Given the description of an element on the screen output the (x, y) to click on. 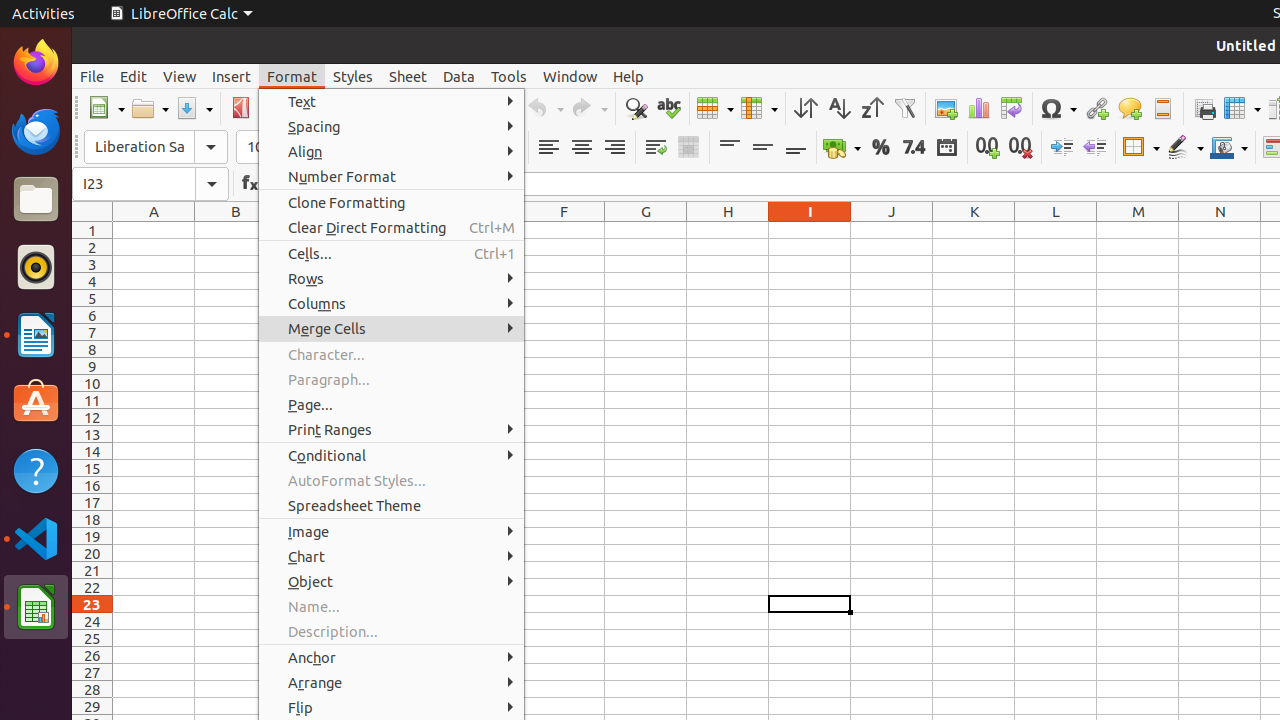
Find & Replace Element type: toggle-button (635, 108)
Freeze Rows and Columns Element type: push-button (1242, 108)
A1 Element type: table-cell (154, 230)
Name Box Element type: combo-box (150, 184)
Object Element type: menu (391, 581)
